Given the description of an element on the screen output the (x, y) to click on. 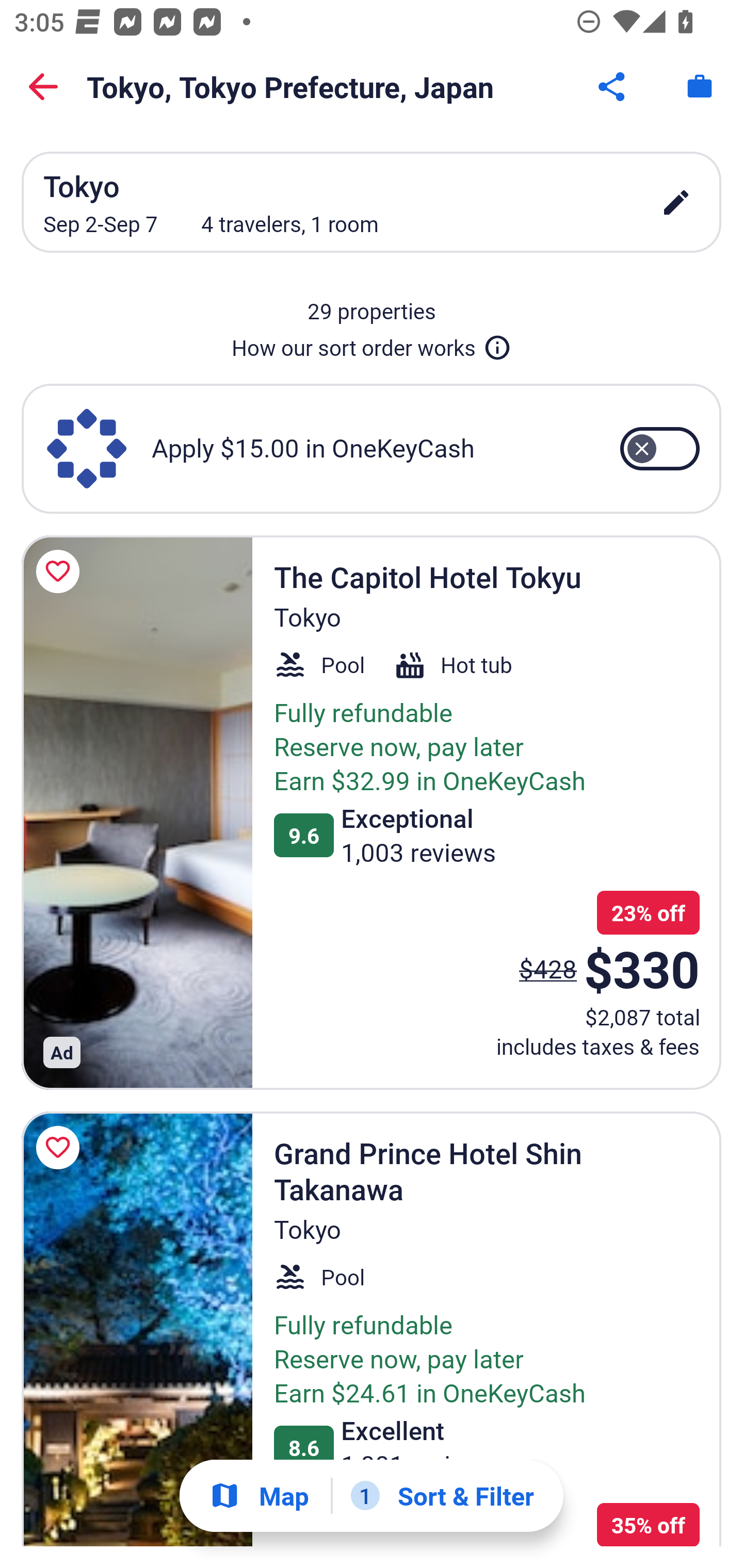
Back (43, 86)
Share Button (612, 86)
Trips. Button (699, 86)
Tokyo Sep 2-Sep 7 4 travelers, 1 room edit (371, 202)
How our sort order works (371, 344)
Save The Capitol Hotel Tokyu to a trip (61, 571)
The Capitol Hotel Tokyu (136, 811)
$428 The price was $428 (547, 968)
Save Grand Prince Hotel Shin Takanawa to a trip (61, 1147)
Grand Prince Hotel Shin Takanawa (136, 1328)
1 Sort & Filter 1 Filter applied. Filters Button (442, 1495)
Show map Map Show map Button (258, 1495)
